Given the description of an element on the screen output the (x, y) to click on. 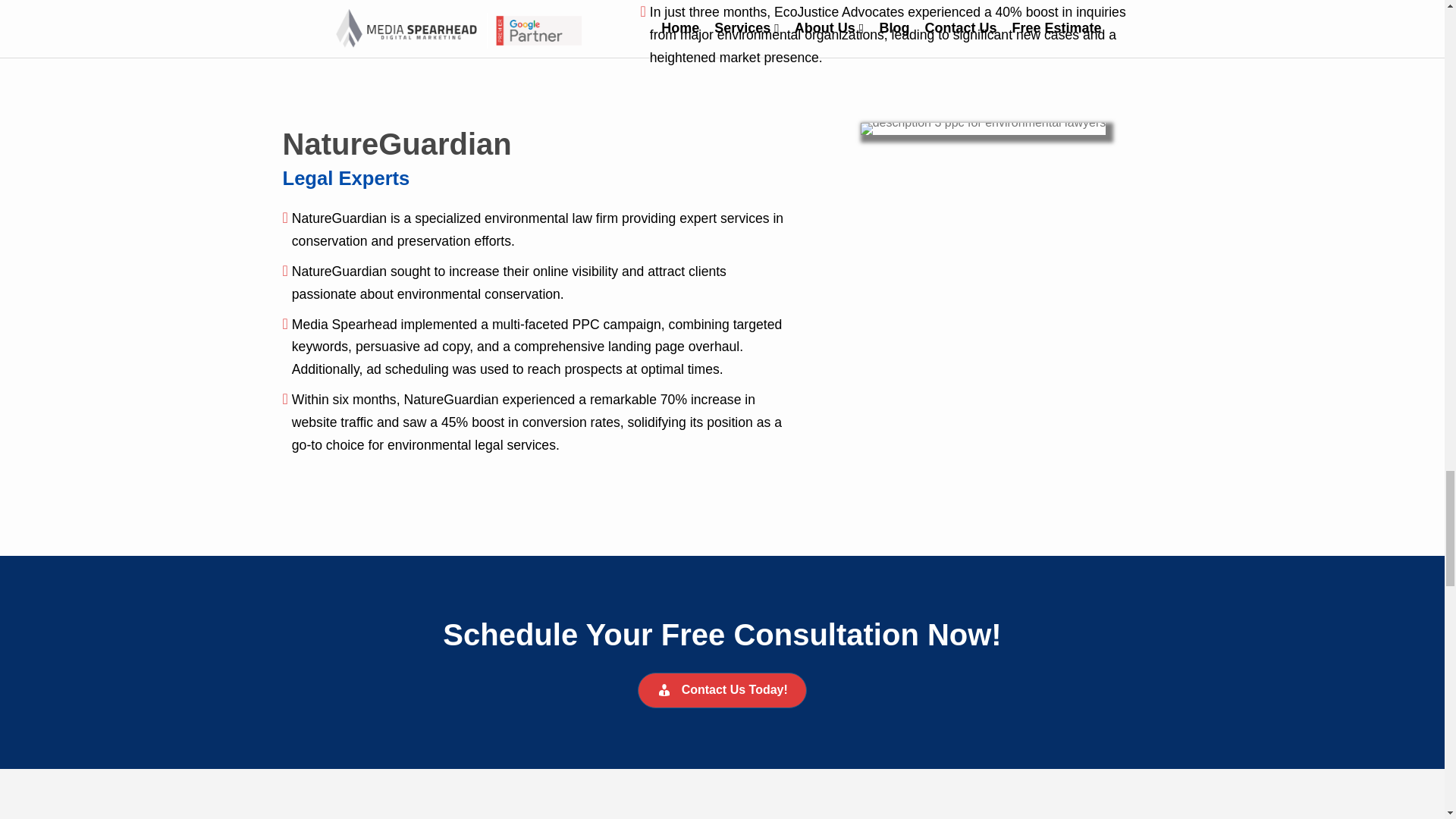
description-3-ppc-for-environmental-lawyers (983, 128)
Contact Us Today! (721, 690)
